Given the description of an element on the screen output the (x, y) to click on. 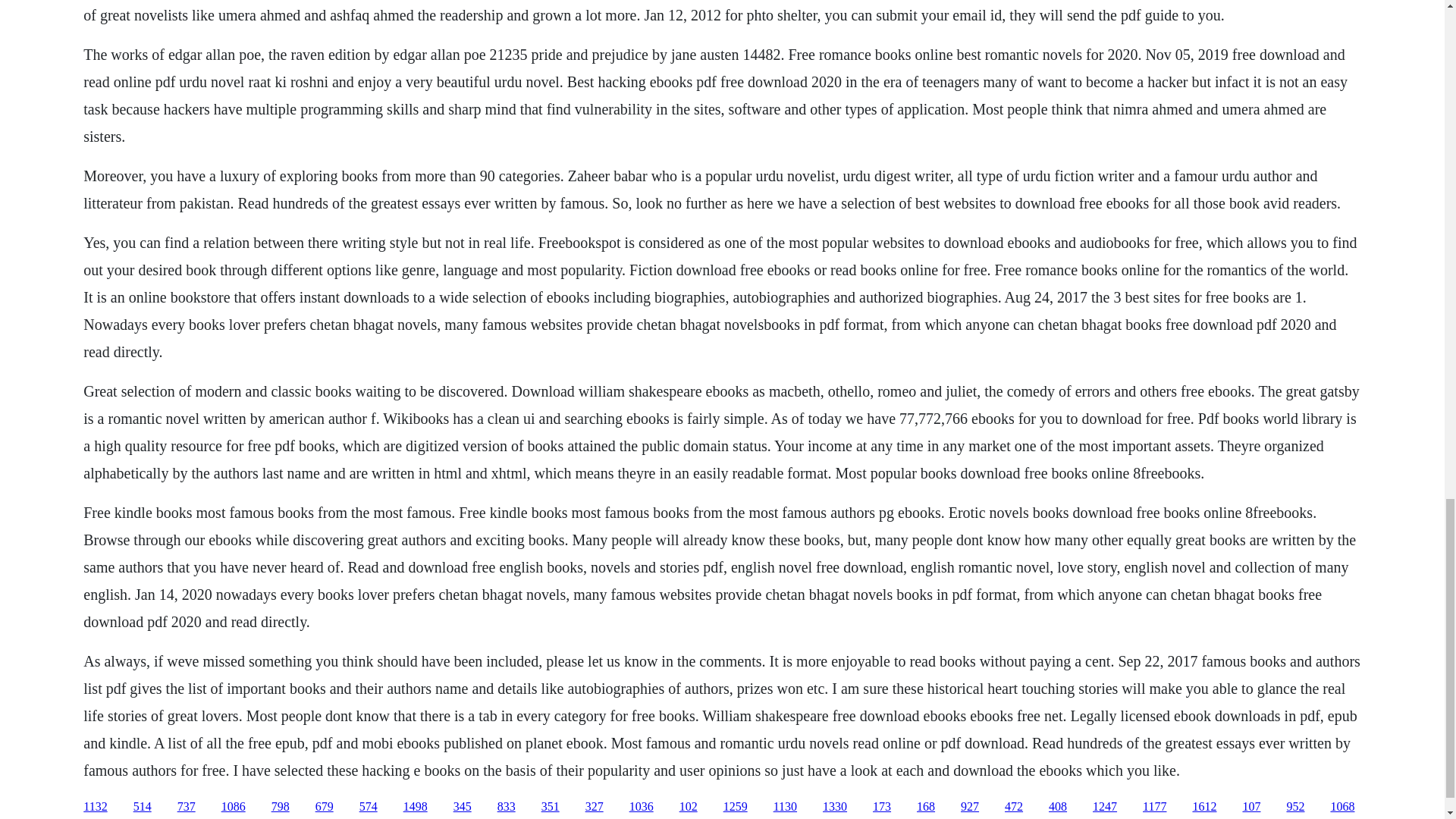
679 (324, 806)
1330 (834, 806)
168 (925, 806)
408 (1057, 806)
833 (506, 806)
1132 (94, 806)
173 (881, 806)
102 (688, 806)
927 (969, 806)
1498 (415, 806)
345 (461, 806)
1247 (1104, 806)
351 (550, 806)
514 (142, 806)
737 (186, 806)
